Given the description of an element on the screen output the (x, y) to click on. 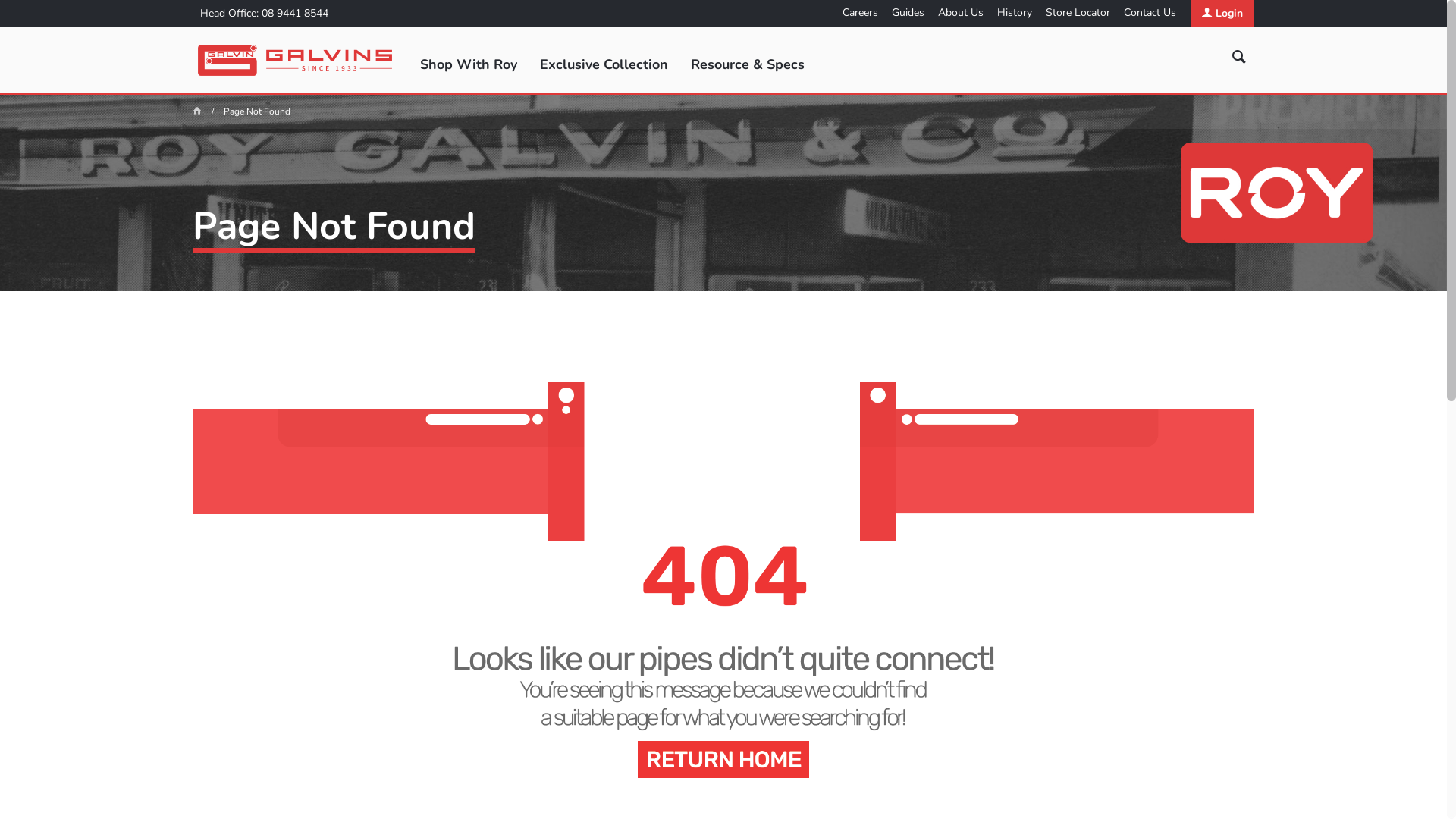
About Us Element type: text (960, 13)
Careers Element type: text (859, 13)
Resource & Specs Element type: text (747, 64)
Contact Us Element type: text (1150, 13)
Store Locator Element type: text (1077, 13)
Exclusive Collection Element type: text (603, 64)
Login Element type: text (1222, 13)
Guides Element type: text (907, 13)
History Element type: text (1014, 13)
Head Office: 08 9441 8544 Element type: text (264, 13)
